Given the description of an element on the screen output the (x, y) to click on. 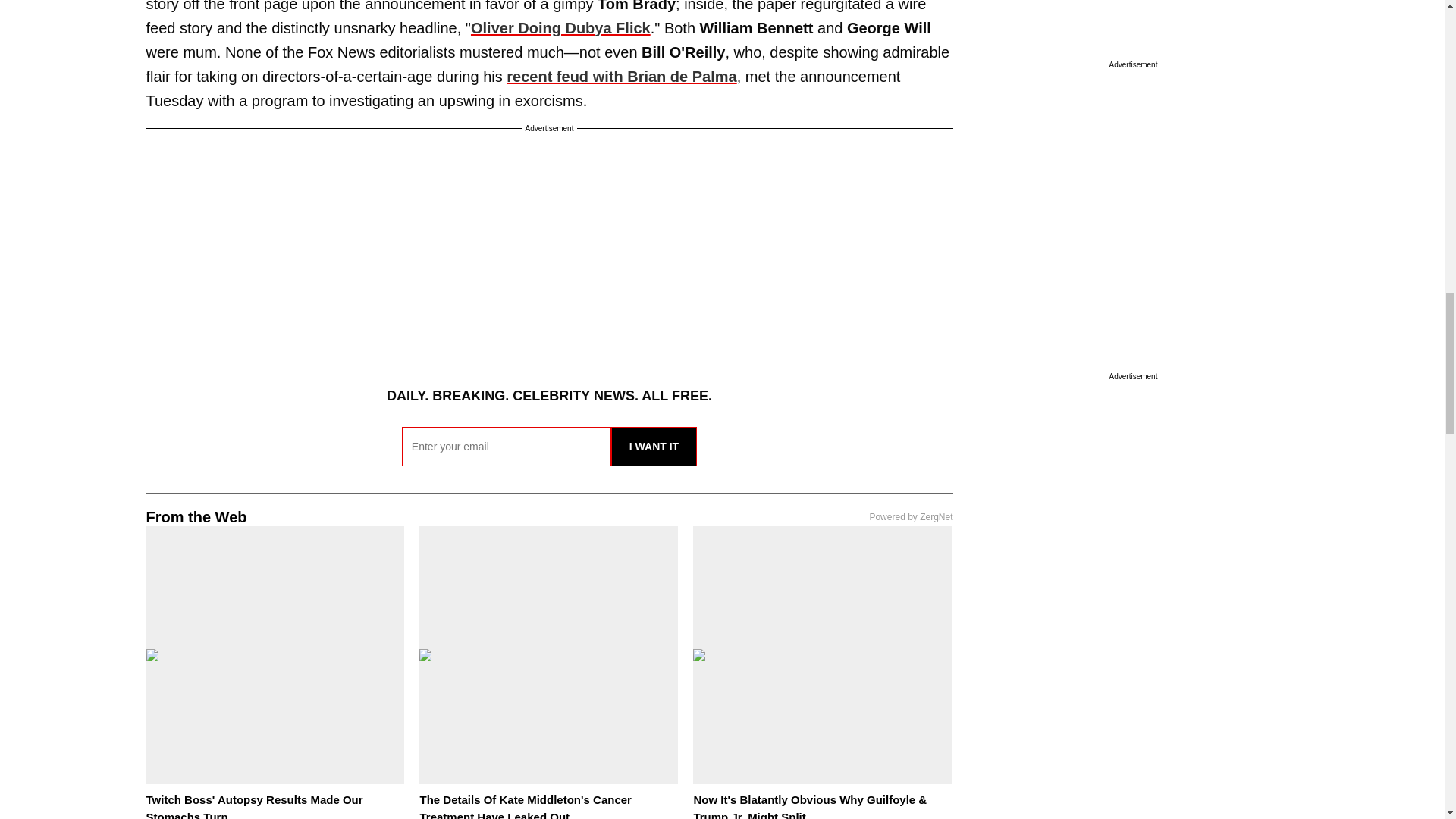
Oliver Doing Dubya Flick (560, 27)
Twitch Boss' Autopsy Results Made Our Stomachs Turn (253, 806)
Powered by ZergNet (910, 516)
recent feud with Brian de Palma (621, 76)
I WANT IT (654, 445)
I WANT IT (654, 445)
